Given the description of an element on the screen output the (x, y) to click on. 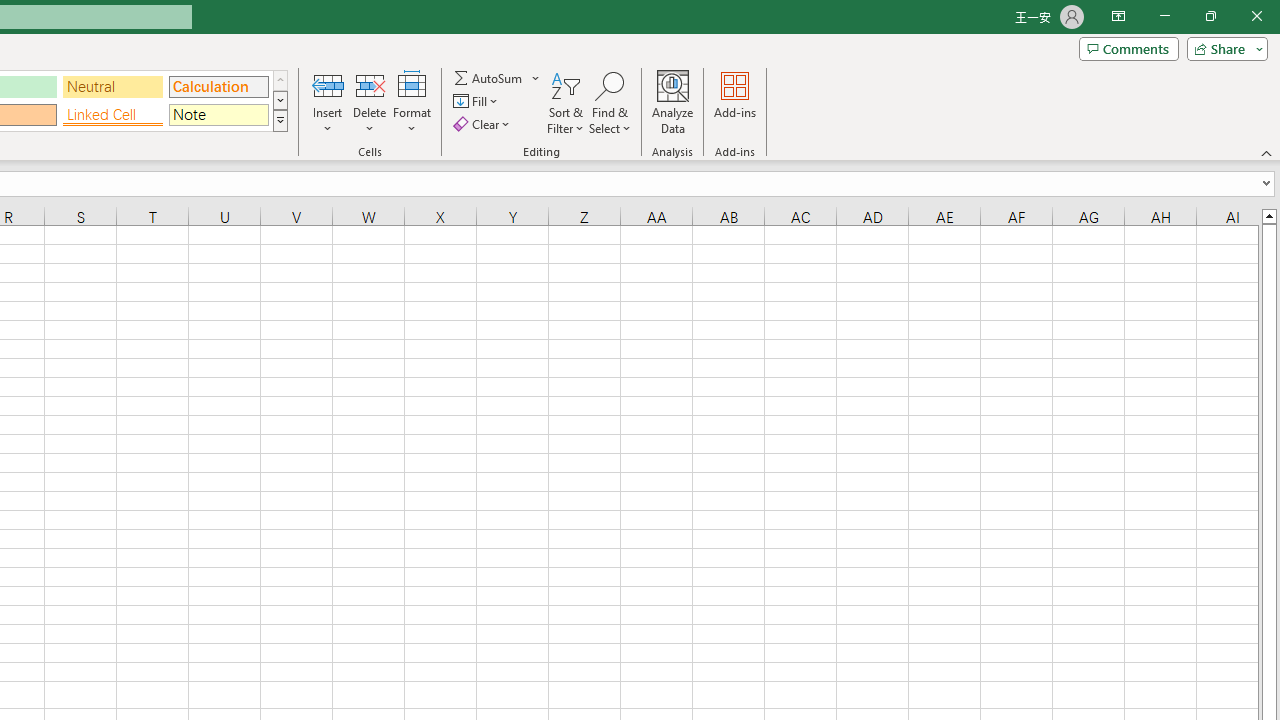
Insert Cells (328, 84)
Analyze Data (673, 102)
Line up (1268, 215)
More Options (536, 78)
AutoSum (497, 78)
Ribbon Display Options (1118, 16)
Neutral (113, 86)
Clear (483, 124)
Share (1223, 48)
Cell Styles (280, 120)
Restore Down (1210, 16)
Collapse the Ribbon (1267, 152)
Sum (489, 78)
Delete Cells... (369, 84)
